Given the description of an element on the screen output the (x, y) to click on. 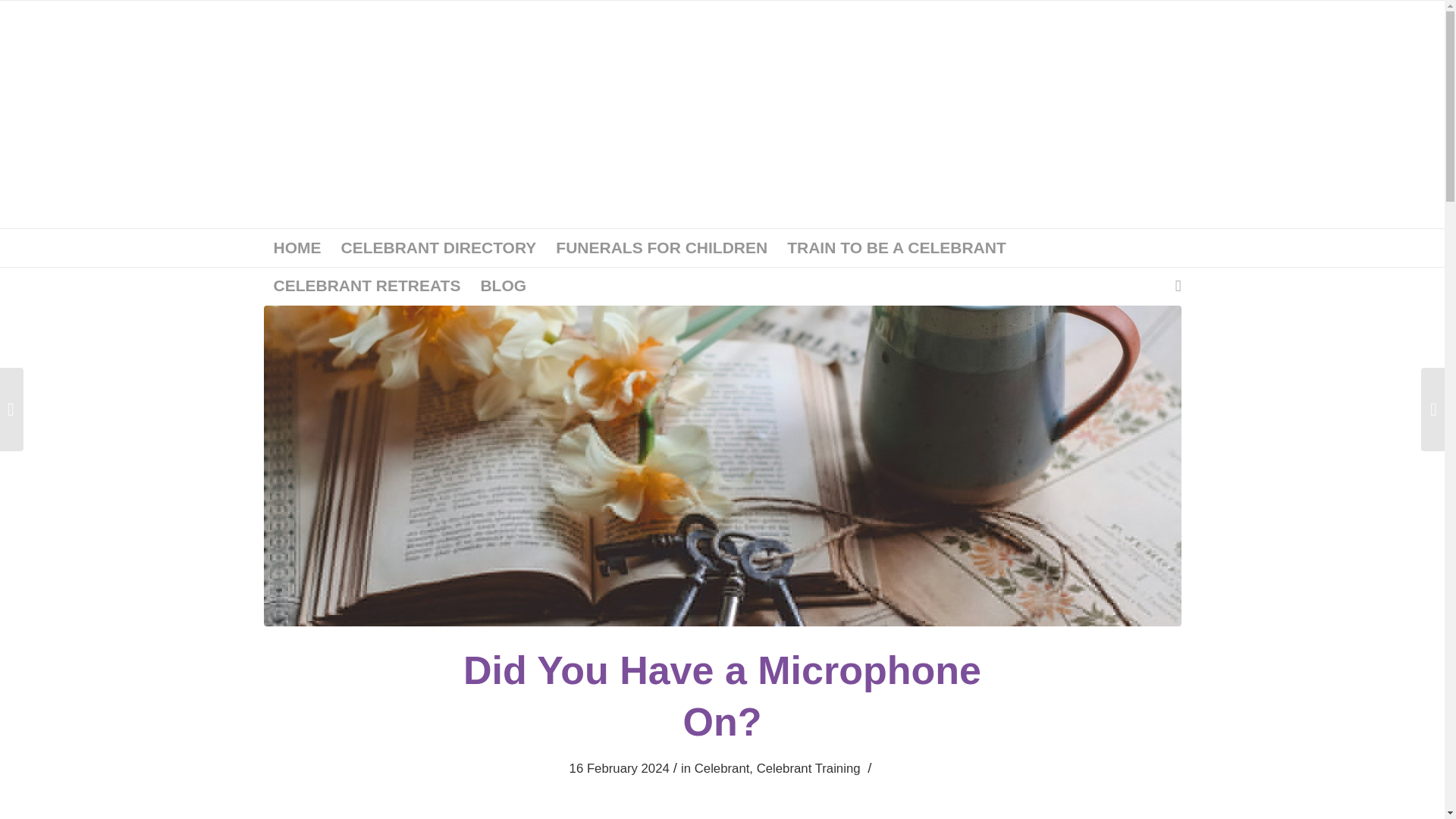
Did You Have a Microphone On? (722, 695)
CELEBRANT RETREATS (366, 285)
TRAIN TO BE A CELEBRANT (896, 247)
Celebrant Training (808, 768)
Permanent Link: Did You Have a Microphone On? (722, 695)
HOME (297, 247)
FUNERALS FOR CHILDREN (661, 247)
Celebrant (721, 768)
BLOG (502, 285)
CELEBRANT DIRECTORY (438, 247)
